Given the description of an element on the screen output the (x, y) to click on. 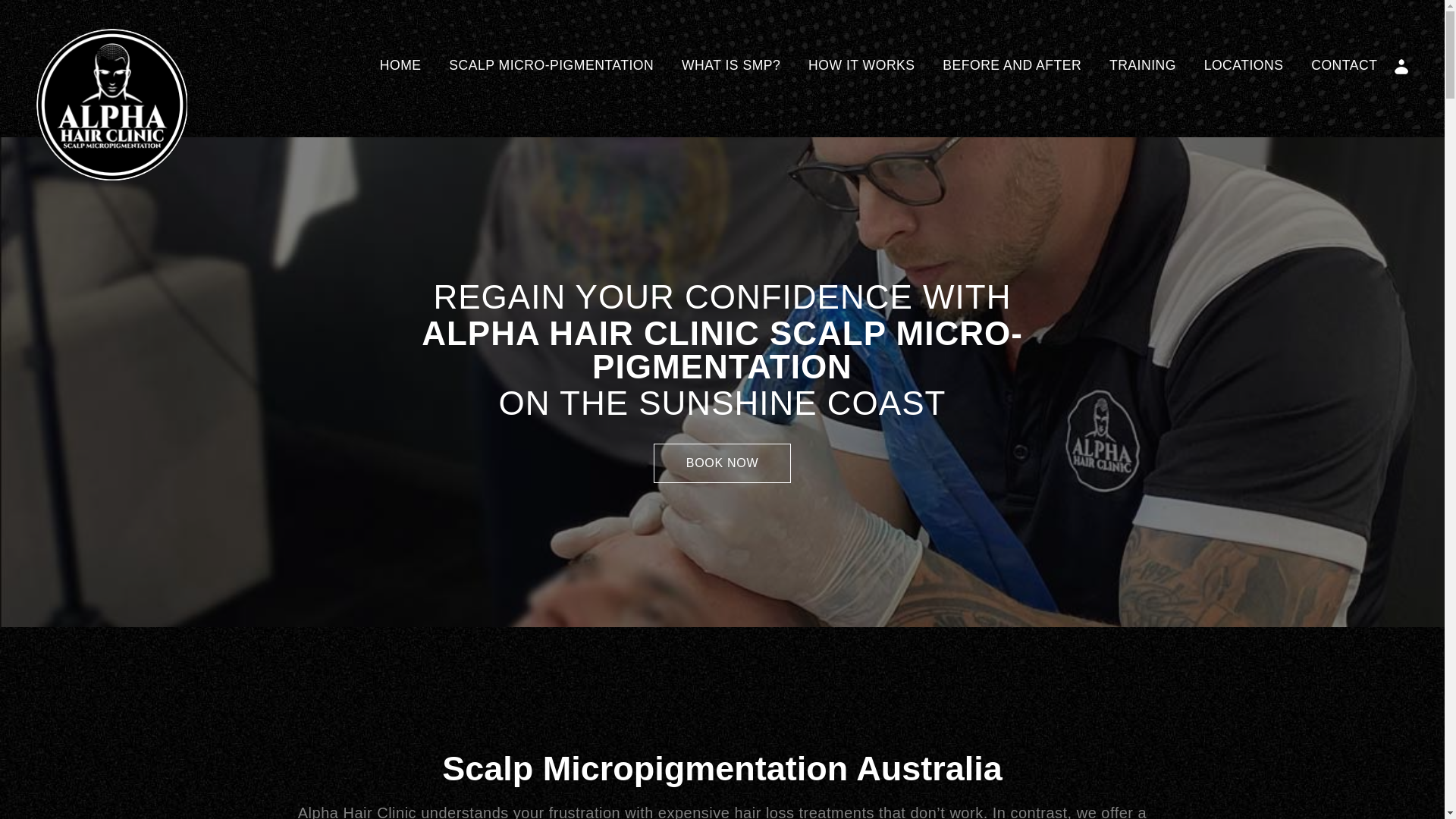
HOME (401, 65)
LOCATIONS (1244, 65)
BEFORE AND AFTER (1011, 65)
WHAT IS SMP? (730, 65)
TRAINING (1142, 65)
SCALP MICRO-PIGMENTATION (550, 65)
HOW IT WORKS (861, 65)
